Given the description of an element on the screen output the (x, y) to click on. 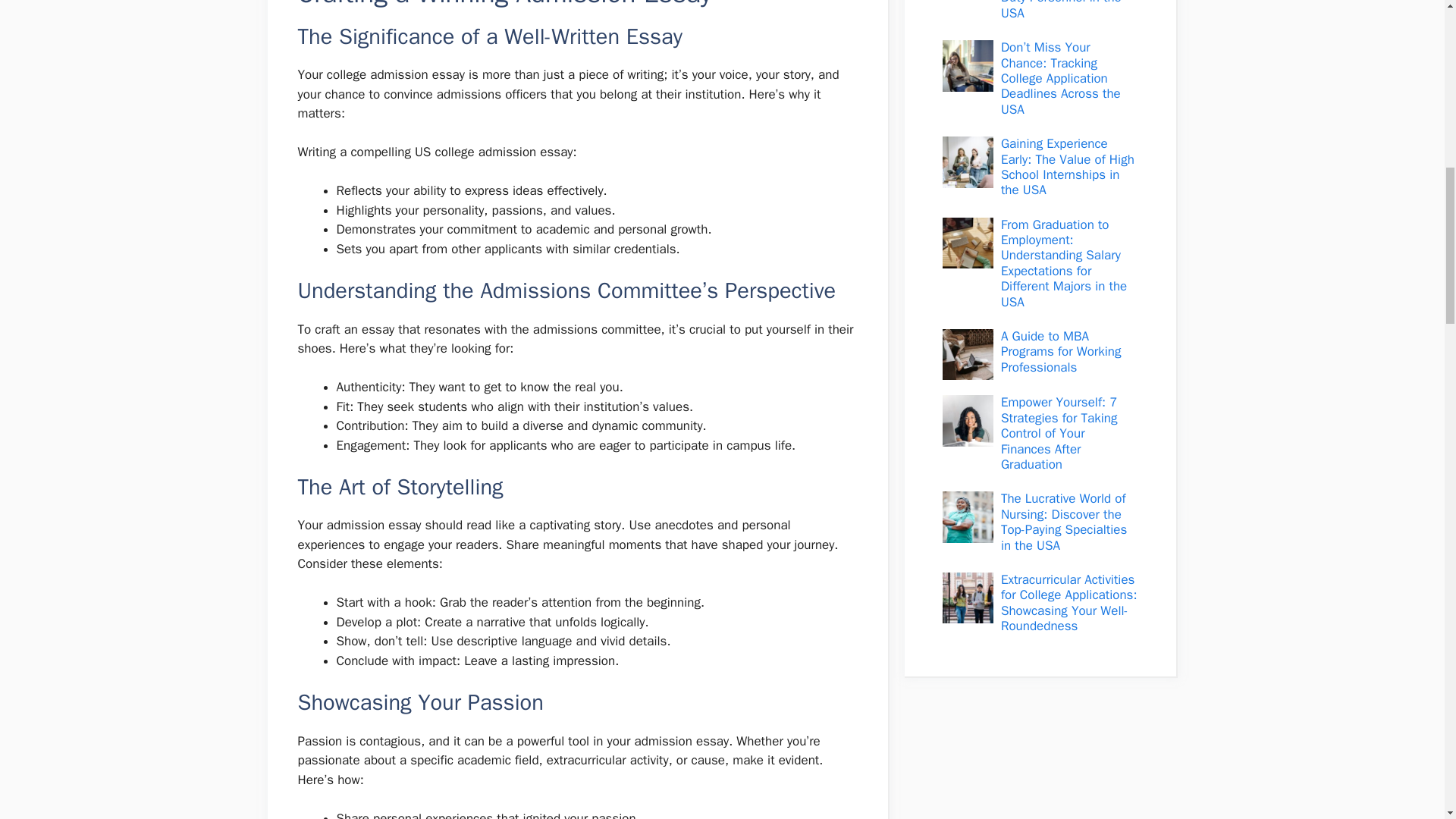
Scroll back to top (1406, 720)
A Guide to MBA Programs for Working Professionals (1061, 351)
